Given the description of an element on the screen output the (x, y) to click on. 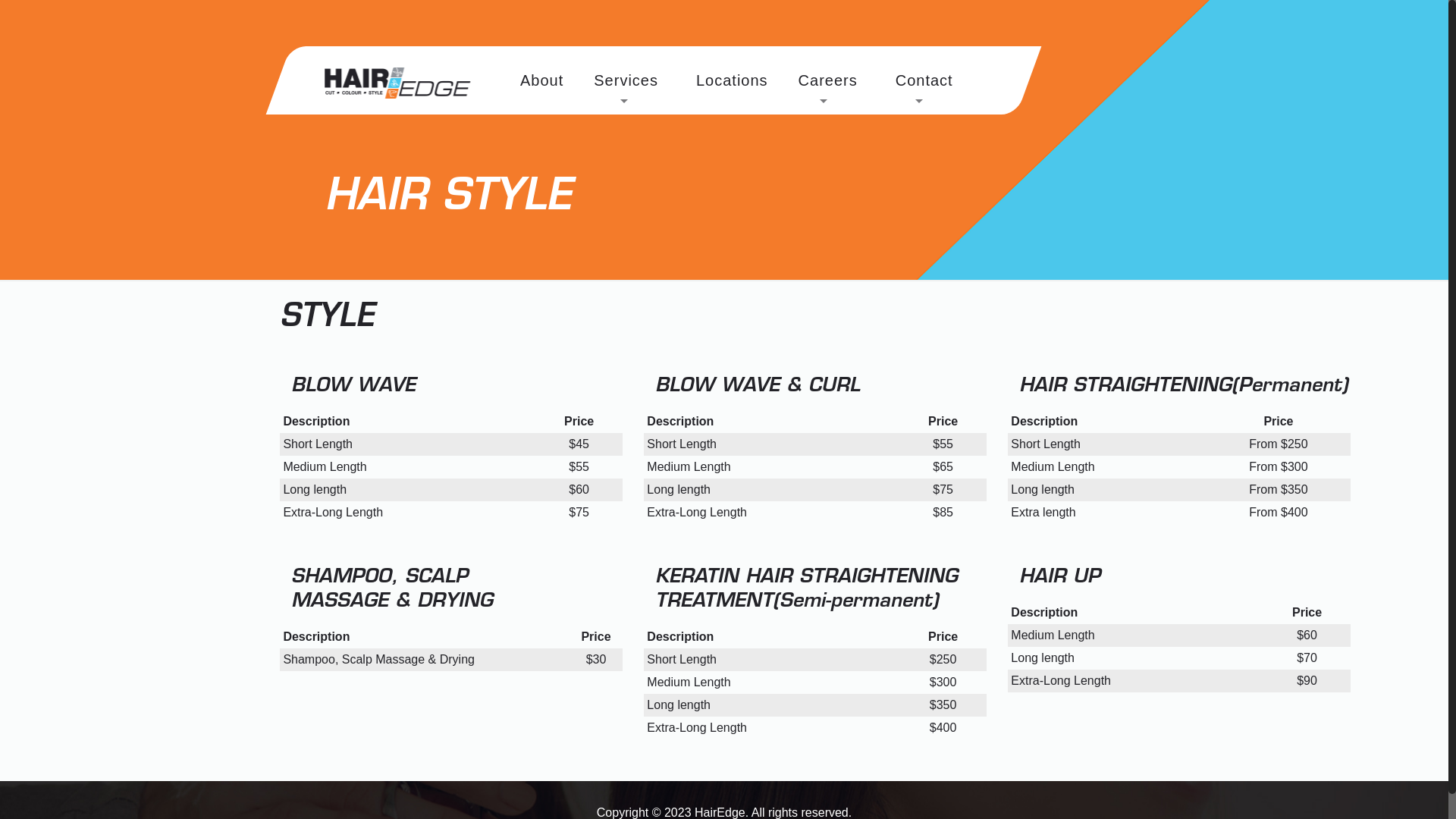
Careers Element type: text (831, 80)
Contact Element type: text (927, 80)
About Element type: text (541, 80)
Services Element type: text (630, 80)
HairEdge Salon Element type: hover (397, 90)
Locations Element type: text (731, 80)
